Given the description of an element on the screen output the (x, y) to click on. 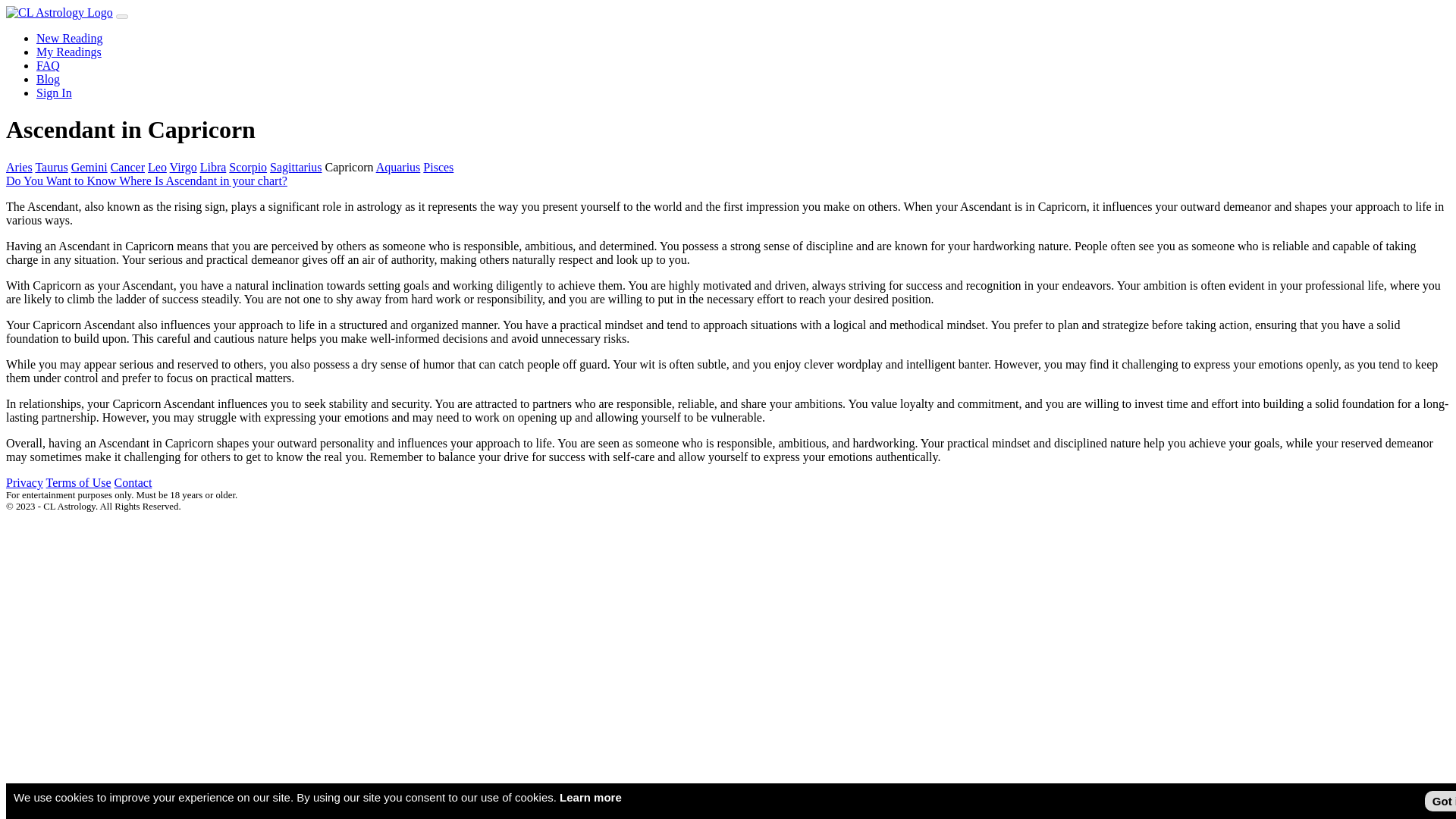
Scorpio (247, 166)
New Reading (69, 38)
Virgo (183, 166)
Cancer (127, 166)
Sagittarius (295, 166)
Do You Want to Know Where Is Ascendant in your chart? (145, 180)
Privacy (24, 481)
Pisces (437, 166)
Aries (18, 166)
Taurus (50, 166)
